Given the description of an element on the screen output the (x, y) to click on. 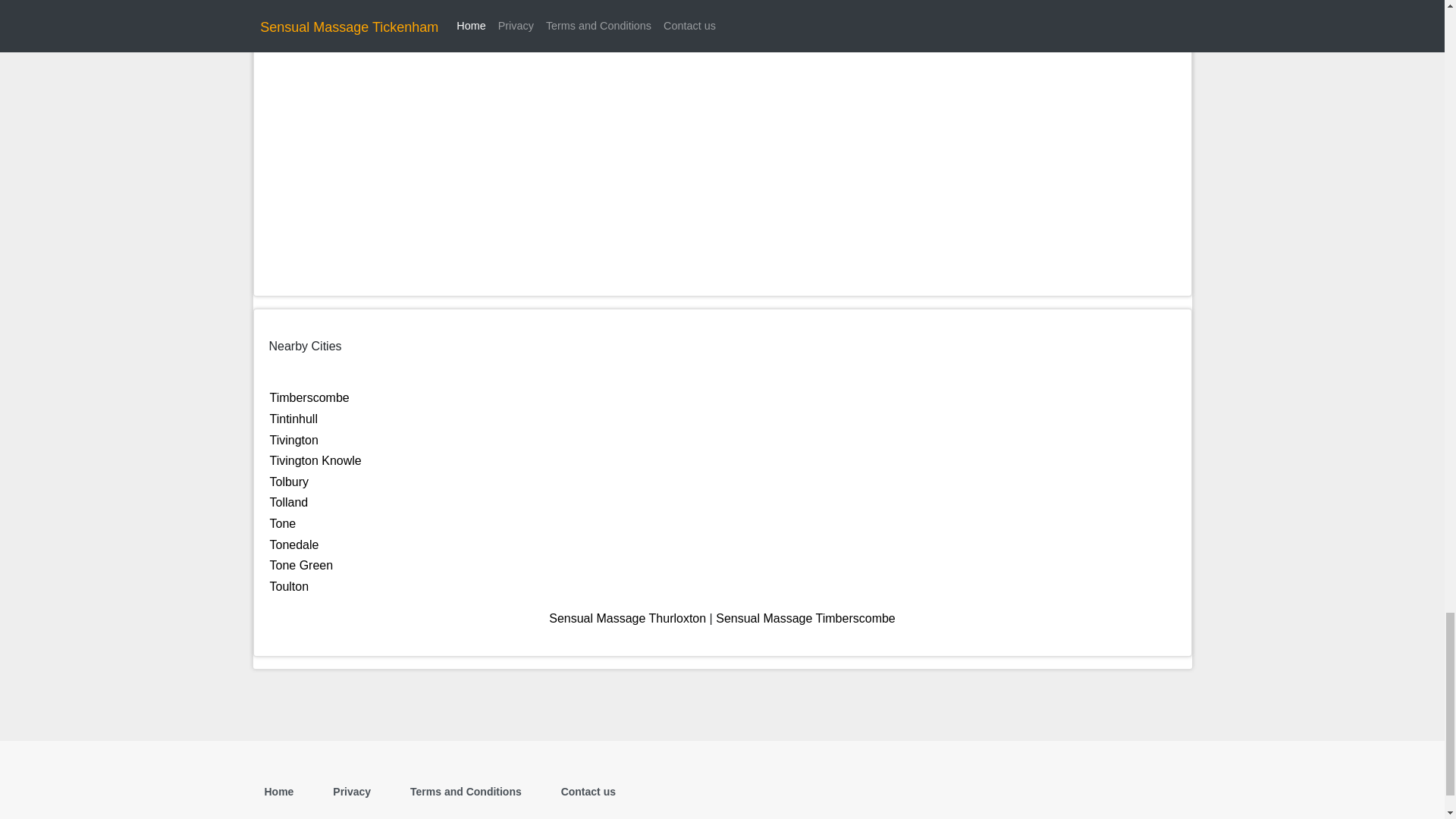
Tonedale (293, 544)
Timberscombe (309, 397)
Sensual Massage Timberscombe (805, 617)
Tone Green (301, 564)
Tivington (293, 440)
Tolbury (288, 481)
Sensual Massage Thurloxton (627, 617)
Tolland (288, 502)
Tivington Knowle (315, 460)
Toulton (288, 585)
Tone (283, 522)
Tintinhull (293, 418)
